Given the description of an element on the screen output the (x, y) to click on. 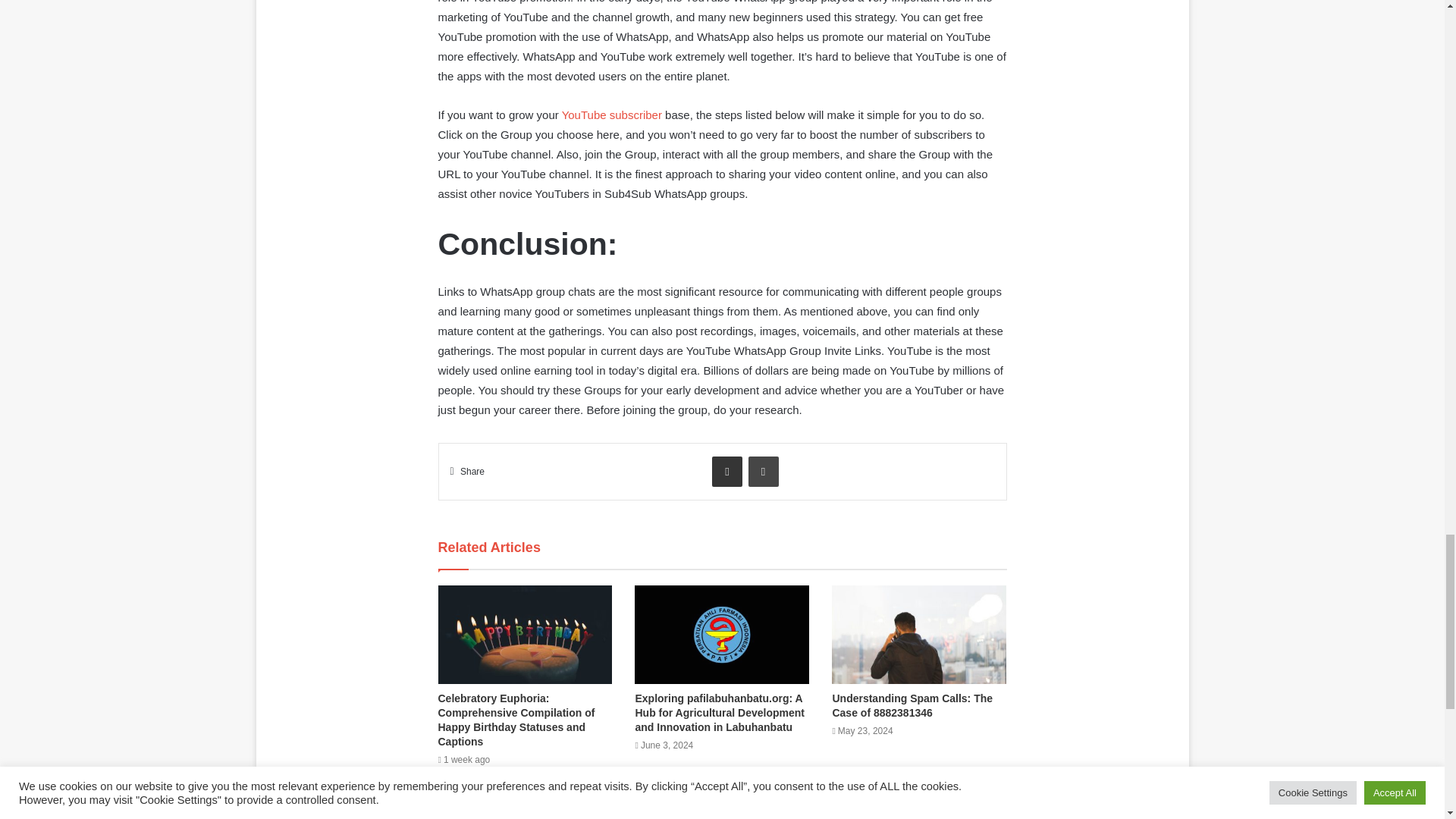
Understanding Spam Calls: The Case of 8882381346 (911, 705)
Share via Email (726, 471)
Print (763, 471)
Print (763, 471)
YouTube subscriber (612, 114)
Share via Email (726, 471)
